Given the description of an element on the screen output the (x, y) to click on. 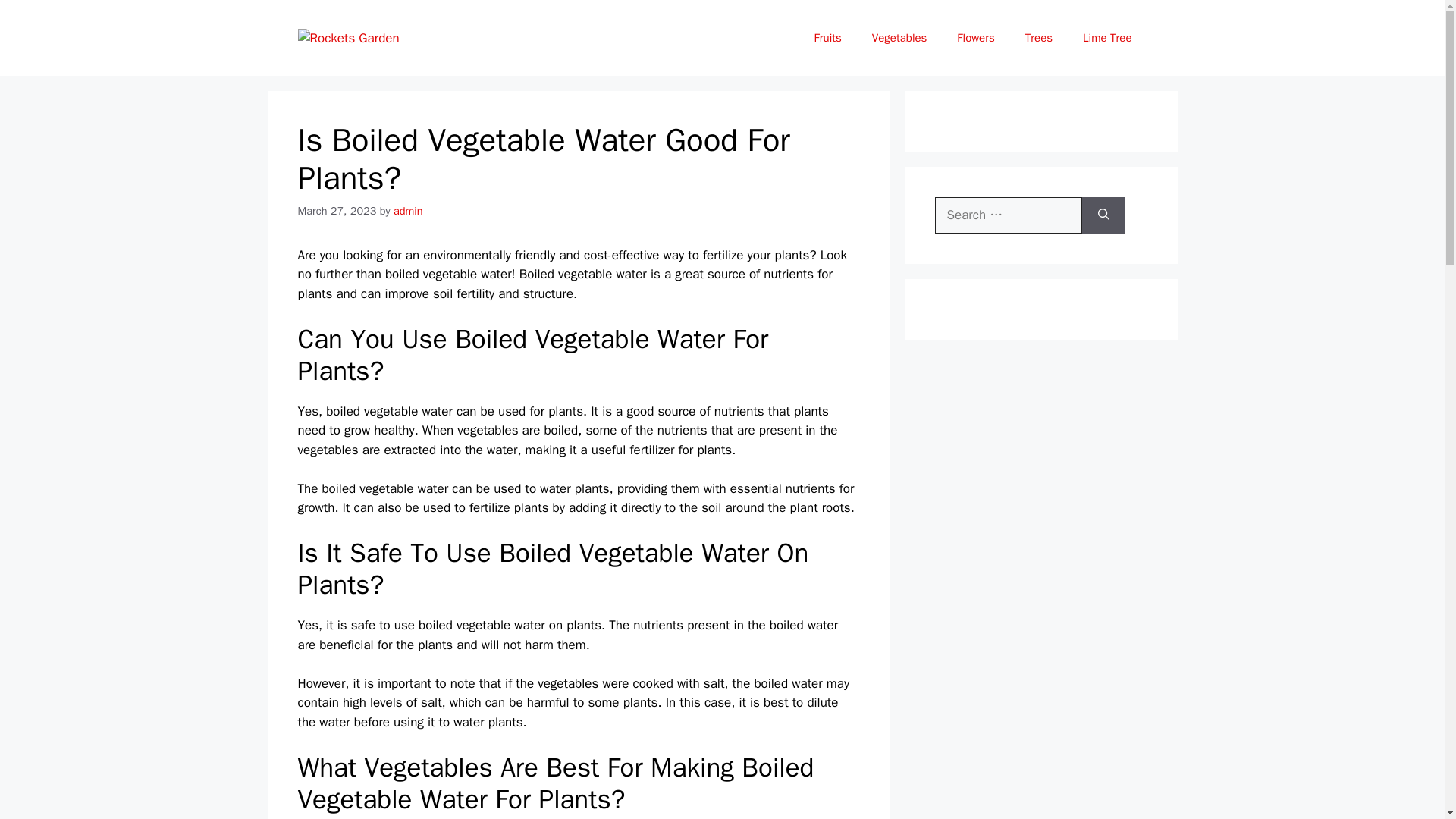
admin (408, 210)
View all posts by admin (408, 210)
Search for: (1007, 215)
Vegetables (899, 37)
Fruits (828, 37)
Lime Tree (1107, 37)
Trees (1038, 37)
Flowers (975, 37)
